Given the description of an element on the screen output the (x, y) to click on. 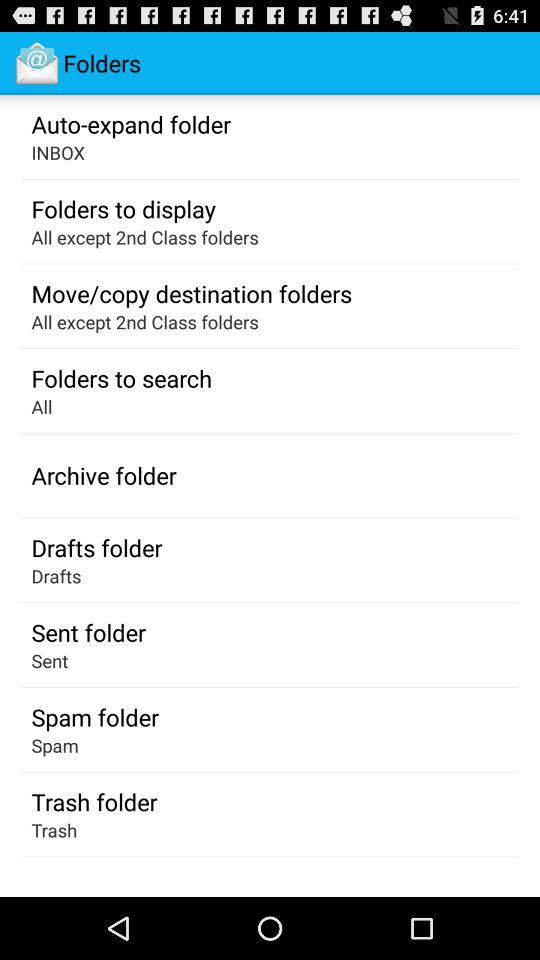
press item above the spam item (94, 717)
